Given the description of an element on the screen output the (x, y) to click on. 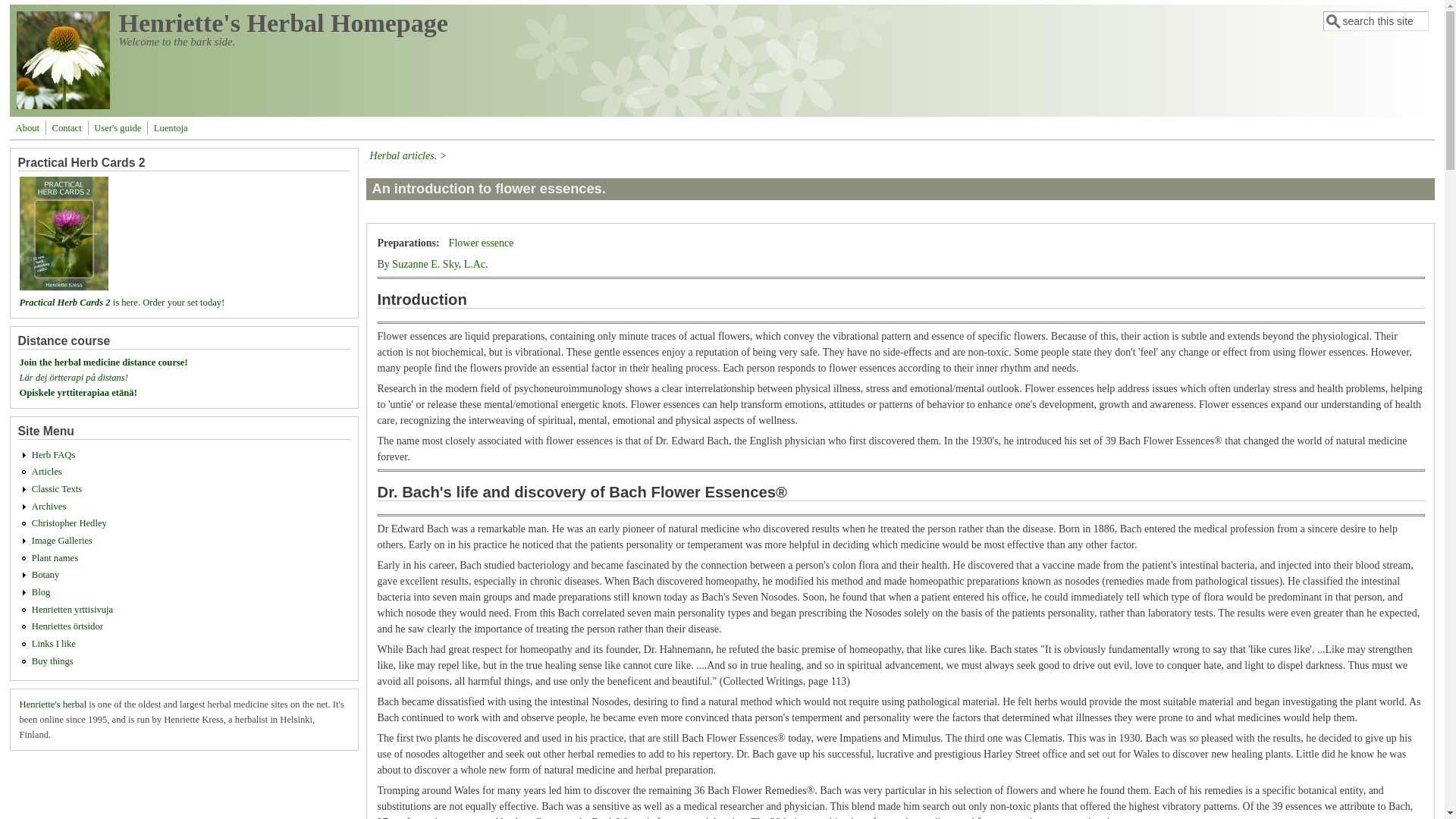
Herbal articles. (47, 471)
Henriette's herbal blog. (41, 592)
Contact (66, 128)
Suomenkielinen osa Henrietten yrttisivustosta. (72, 609)
Plant names (55, 557)
Buy things (53, 661)
Articles (47, 471)
Classic Texts (56, 489)
